Given the description of an element on the screen output the (x, y) to click on. 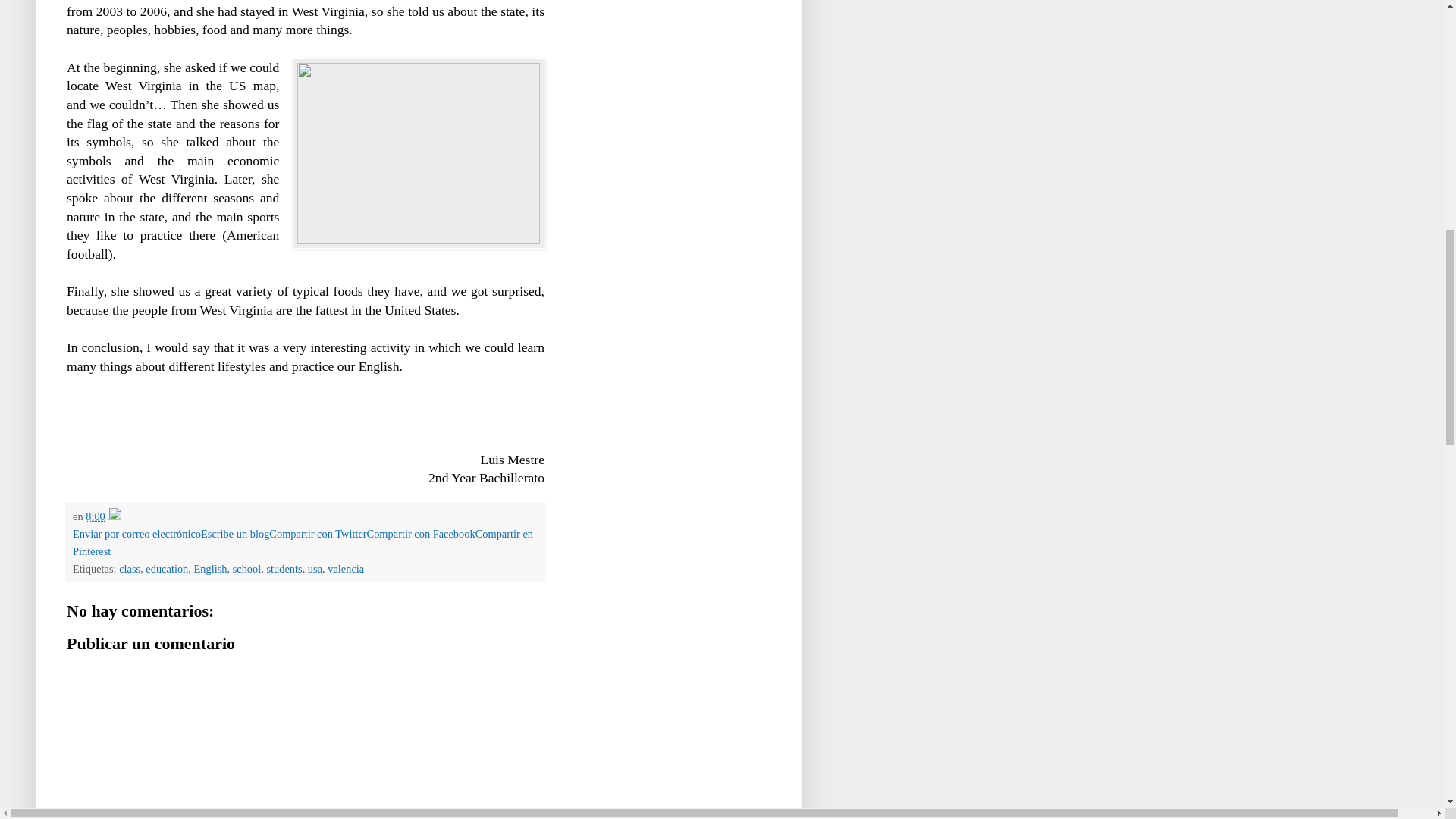
Compartir con Facebook (421, 533)
English (210, 568)
Compartir con Twitter (317, 533)
Compartir con Twitter (317, 533)
Escribe un blog (234, 533)
education (166, 568)
usa (314, 568)
class (129, 568)
Editar entrada (113, 516)
permanent link (94, 516)
school (247, 568)
8:00 (94, 516)
Compartir en Pinterest (302, 542)
Escribe un blog (234, 533)
Compartir en Pinterest (302, 542)
